Given the description of an element on the screen output the (x, y) to click on. 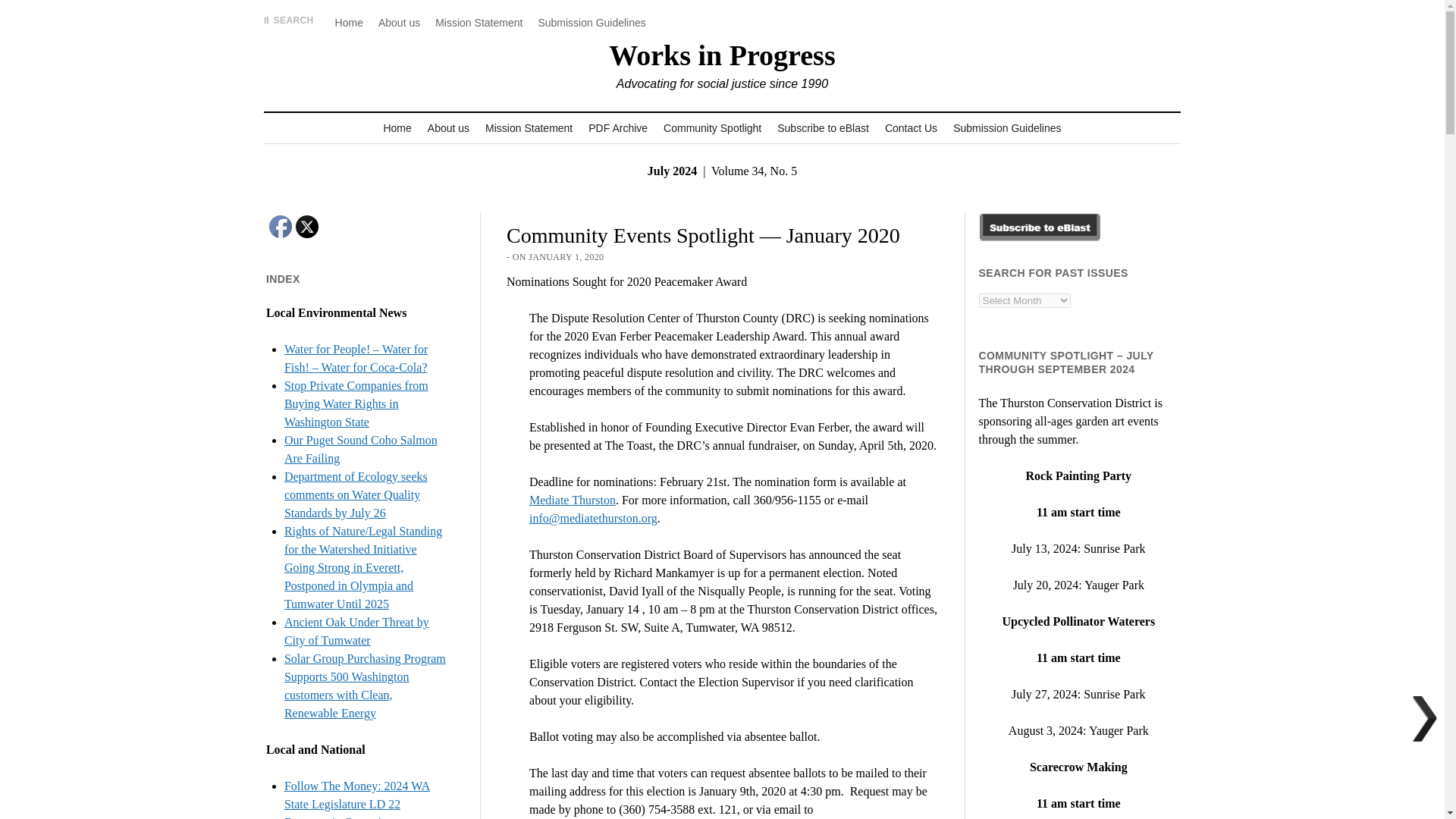
Mission Statement (478, 22)
Search (945, 129)
Mission Statement (528, 128)
Community Spotlight (712, 128)
Home (397, 128)
SEARCH (288, 20)
Twitter (306, 226)
Submission Guidelines (590, 22)
Subscribe to eBlast (823, 128)
Ancient Oak Under Threat by City of Tumwater (356, 631)
Mediate Thurston (572, 499)
Home (349, 22)
